Given the description of an element on the screen output the (x, y) to click on. 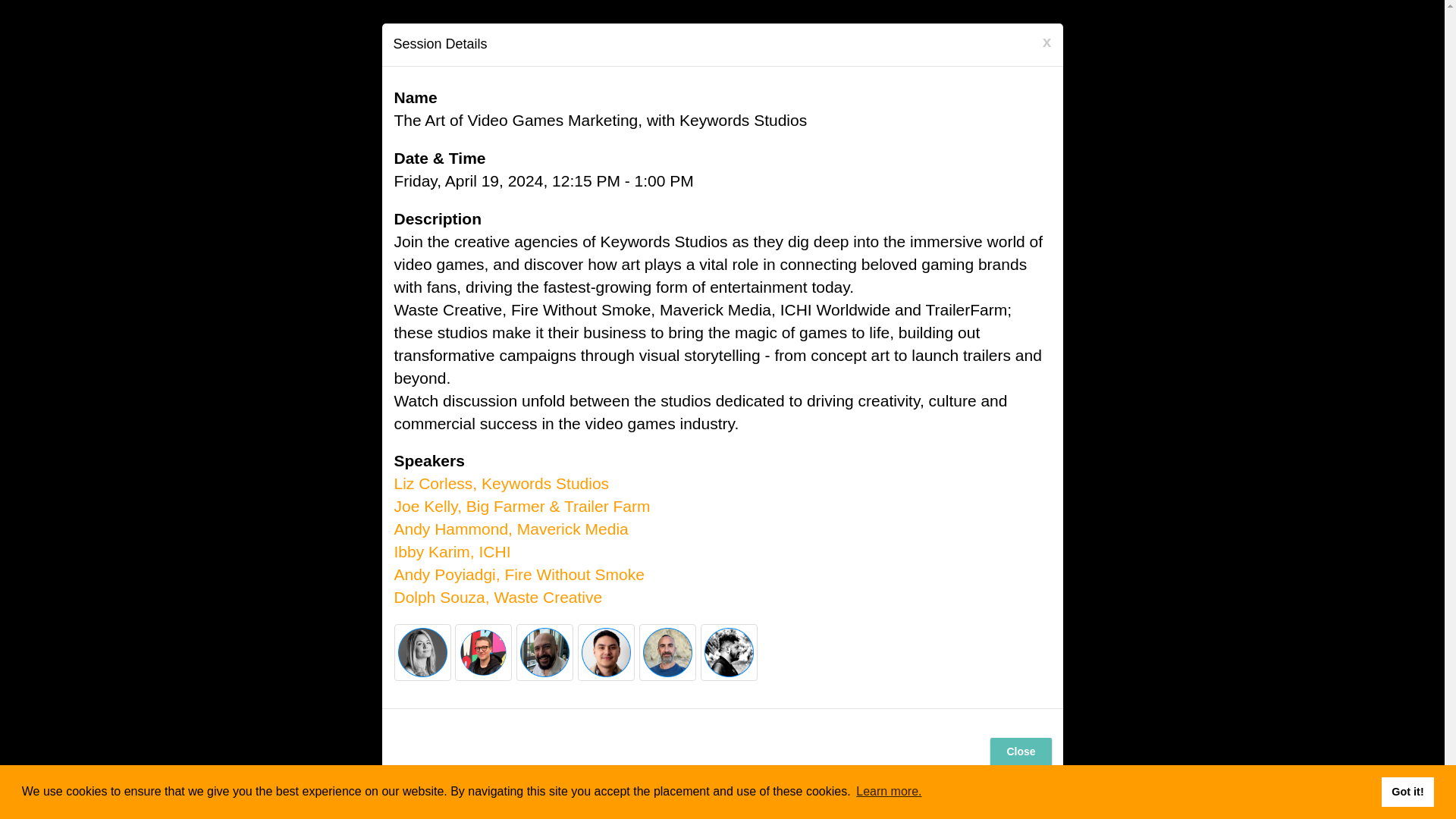
Andy Poyiadgi, Fire Without Smoke (519, 574)
Speaker Details (522, 506)
Got it! (1407, 791)
Speaker Details (511, 528)
Dolph Souza, Waste Creative (498, 597)
Speaker Details (498, 597)
Andy Hammond, Maverick Media (511, 528)
Learn more. (888, 791)
Speaker Details (519, 574)
Close (1020, 751)
